Given the description of an element on the screen output the (x, y) to click on. 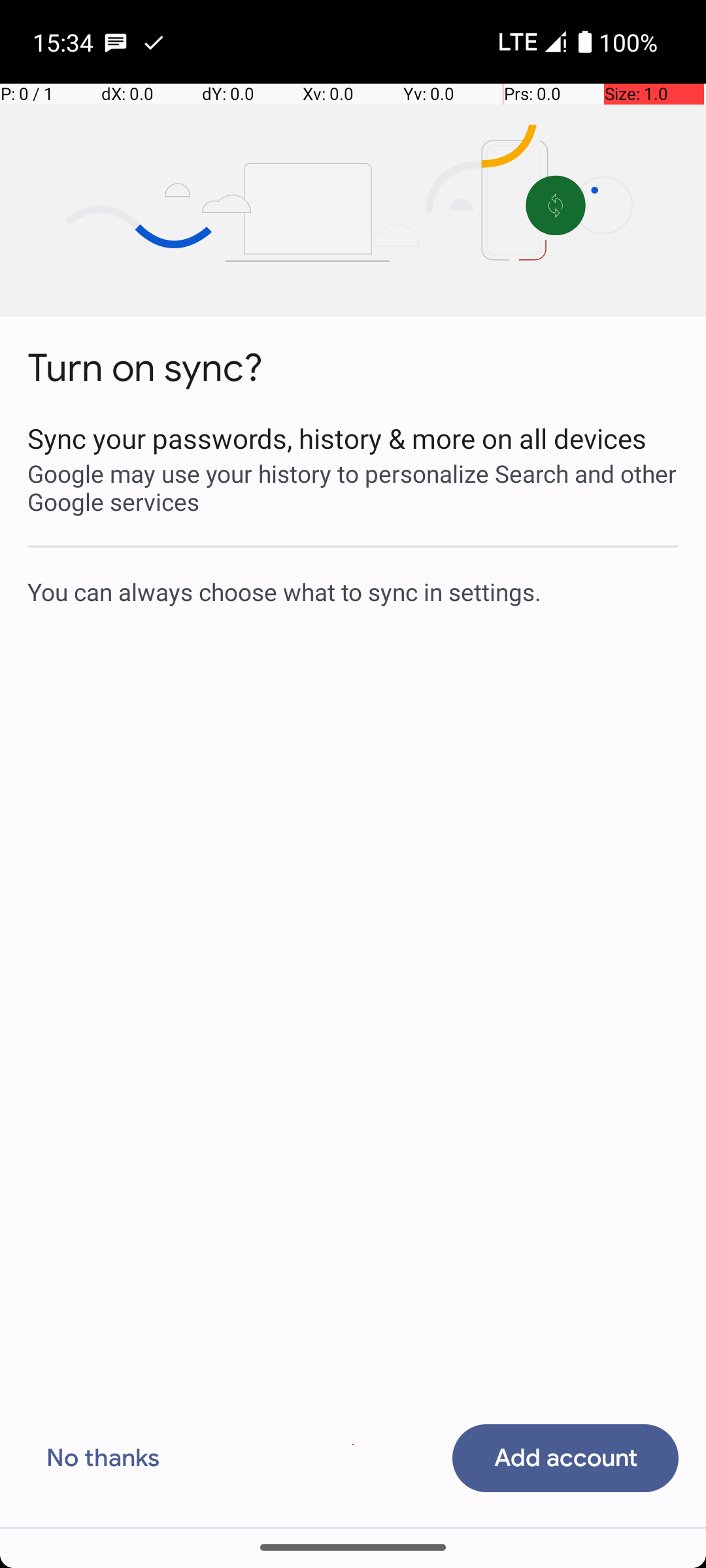
No thanks Element type: android.widget.Button (102, 1458)
Add account Element type: android.widget.Button (565, 1458)
Turn on sync? Element type: android.widget.TextView (144, 368)
Sync your passwords, history & more on all devices Element type: android.widget.TextView (352, 437)
Google may use your history to personalize Search and other Google services Element type: android.widget.TextView (352, 487)
You can always choose what to sync in settings. Element type: android.widget.TextView (352, 591)
SMS Messenger notification: Daniel Ali Element type: android.widget.ImageView (115, 41)
Contacts notification: Finished exporting contacts.vcf. Element type: android.widget.ImageView (153, 41)
